Given the description of an element on the screen output the (x, y) to click on. 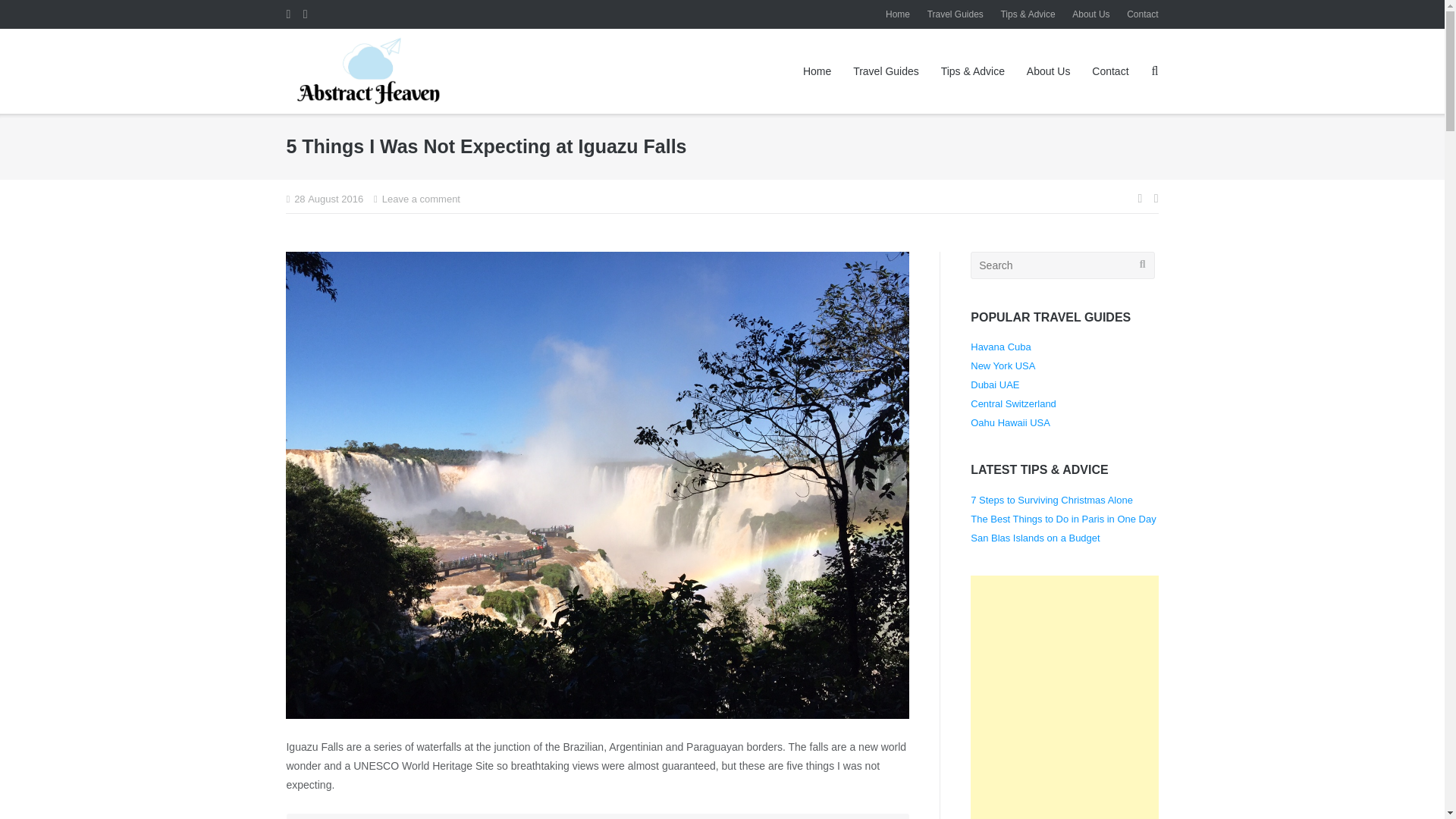
Contact (1110, 70)
Contact (1141, 14)
New York USA (1003, 365)
Search (34, 13)
Facebook (287, 14)
Travel Guides (885, 70)
Dubai UAE (995, 384)
Home (817, 70)
Instagram (304, 14)
Central Switzerland (1014, 403)
About Us (1048, 70)
San Blas Islands on a Budget (1035, 537)
Oahu Hawaii USA (1010, 422)
Search for: (1062, 265)
